Given the description of an element on the screen output the (x, y) to click on. 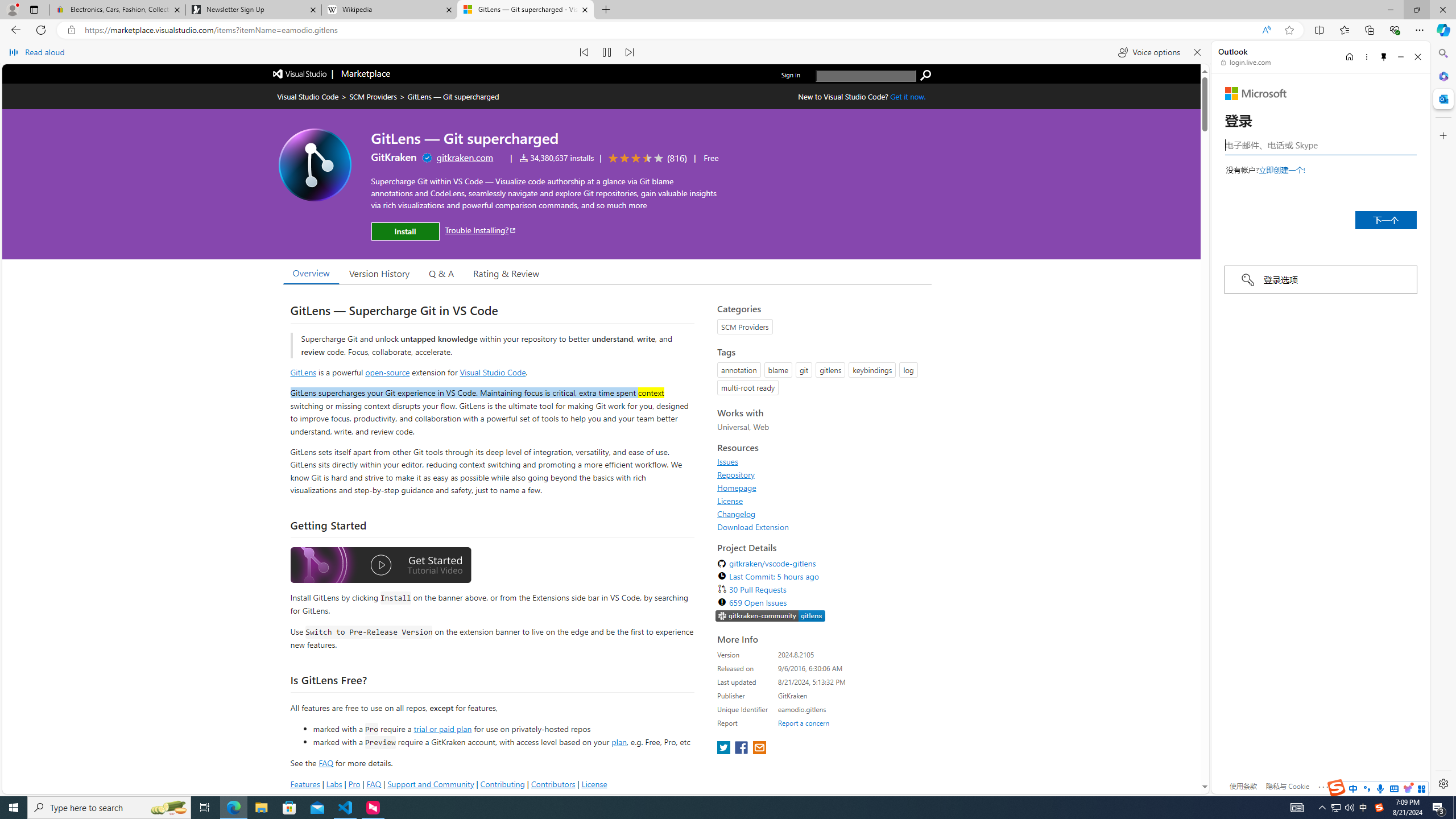
Issues (727, 461)
Pro (354, 783)
Watch the GitLens Getting Started video (380, 565)
SCM Providers (373, 96)
GitLens (303, 371)
login.live.com (1246, 61)
https://slack.gitkraken.com// (769, 615)
Pause read aloud (Ctrl+Shift+U) (606, 52)
